Given the description of an element on the screen output the (x, y) to click on. 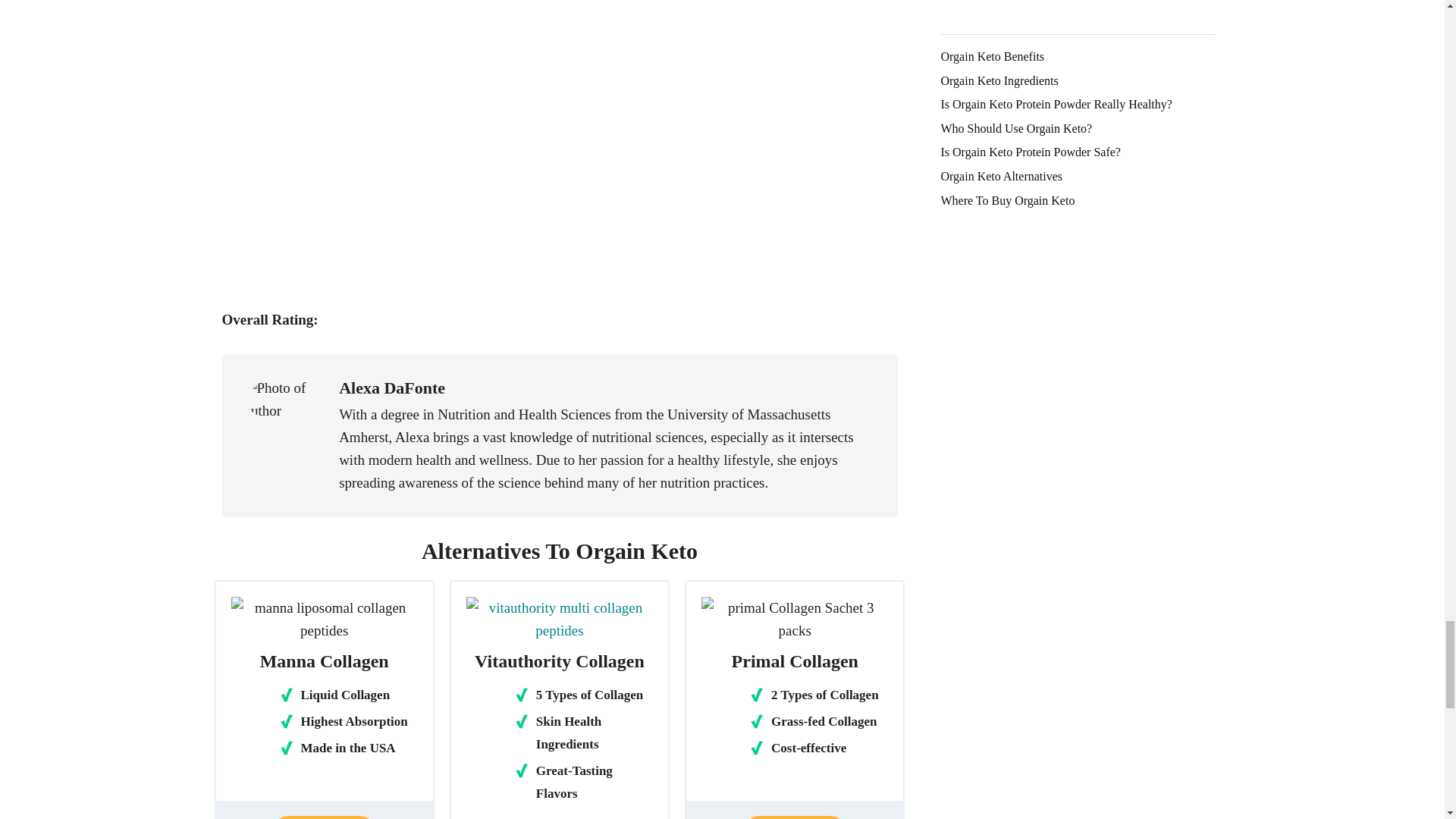
vitauthority multi collagen peptides (558, 619)
manna liposomal collagen peptides (323, 619)
primal Collagen Sachet 3 packs (794, 619)
